Given the description of an element on the screen output the (x, y) to click on. 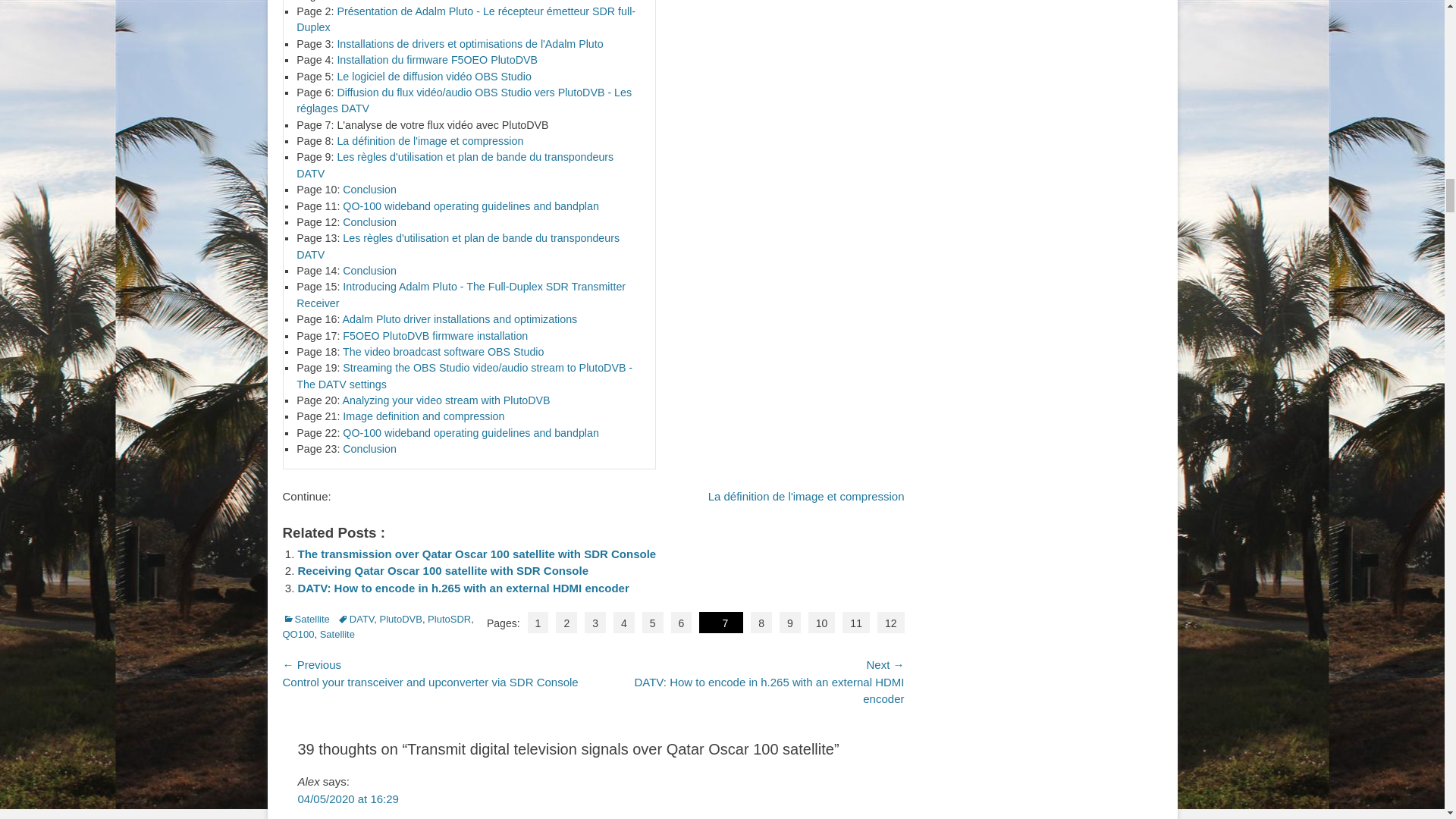
Receiving Qatar Oscar 100 satellite with SDR Console (442, 570)
DATV: How to encode in h.265 with an external HDMI encoder (462, 587)
